Given the description of an element on the screen output the (x, y) to click on. 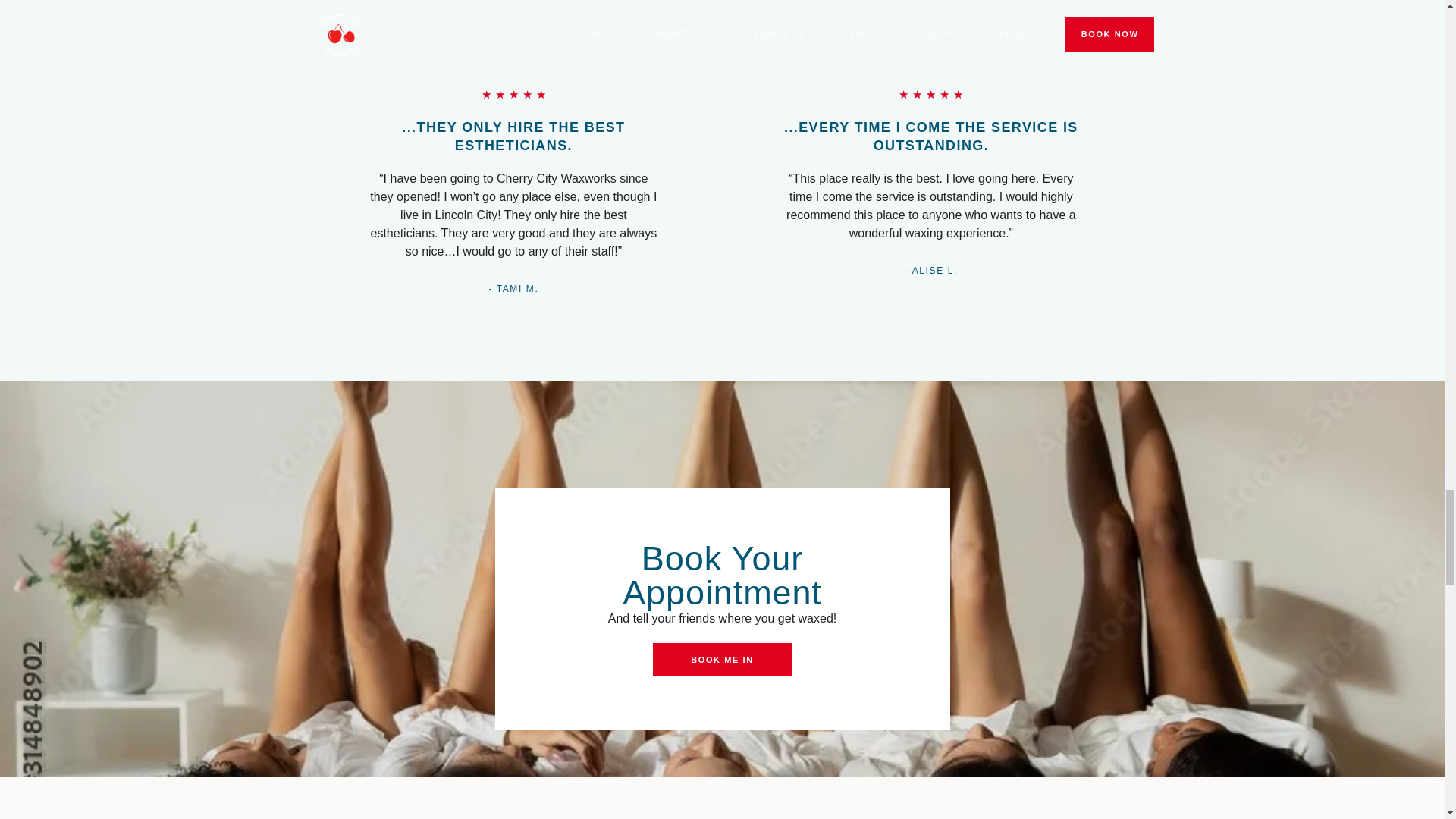
BOOK ME IN (722, 659)
